Given the description of an element on the screen output the (x, y) to click on. 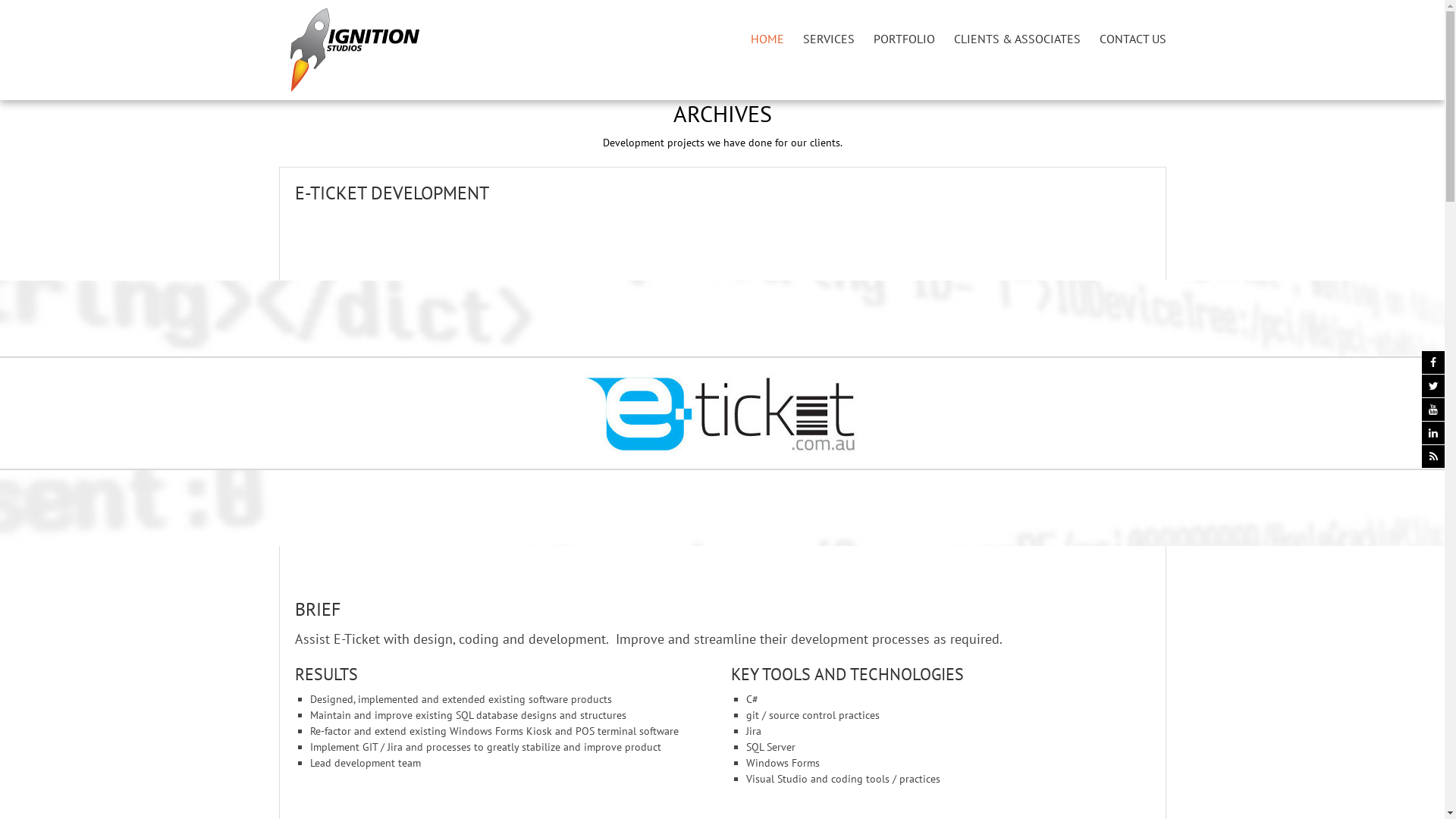
PORTFOLIO Element type: text (904, 38)
CLIENTS & ASSOCIATES Element type: text (1016, 38)
HOME Element type: text (767, 38)
E-TICKET DEVELOPMENT Element type: text (391, 192)
SERVICES Element type: text (827, 38)
CONTACT US Element type: text (1132, 38)
